Given the description of an element on the screen output the (x, y) to click on. 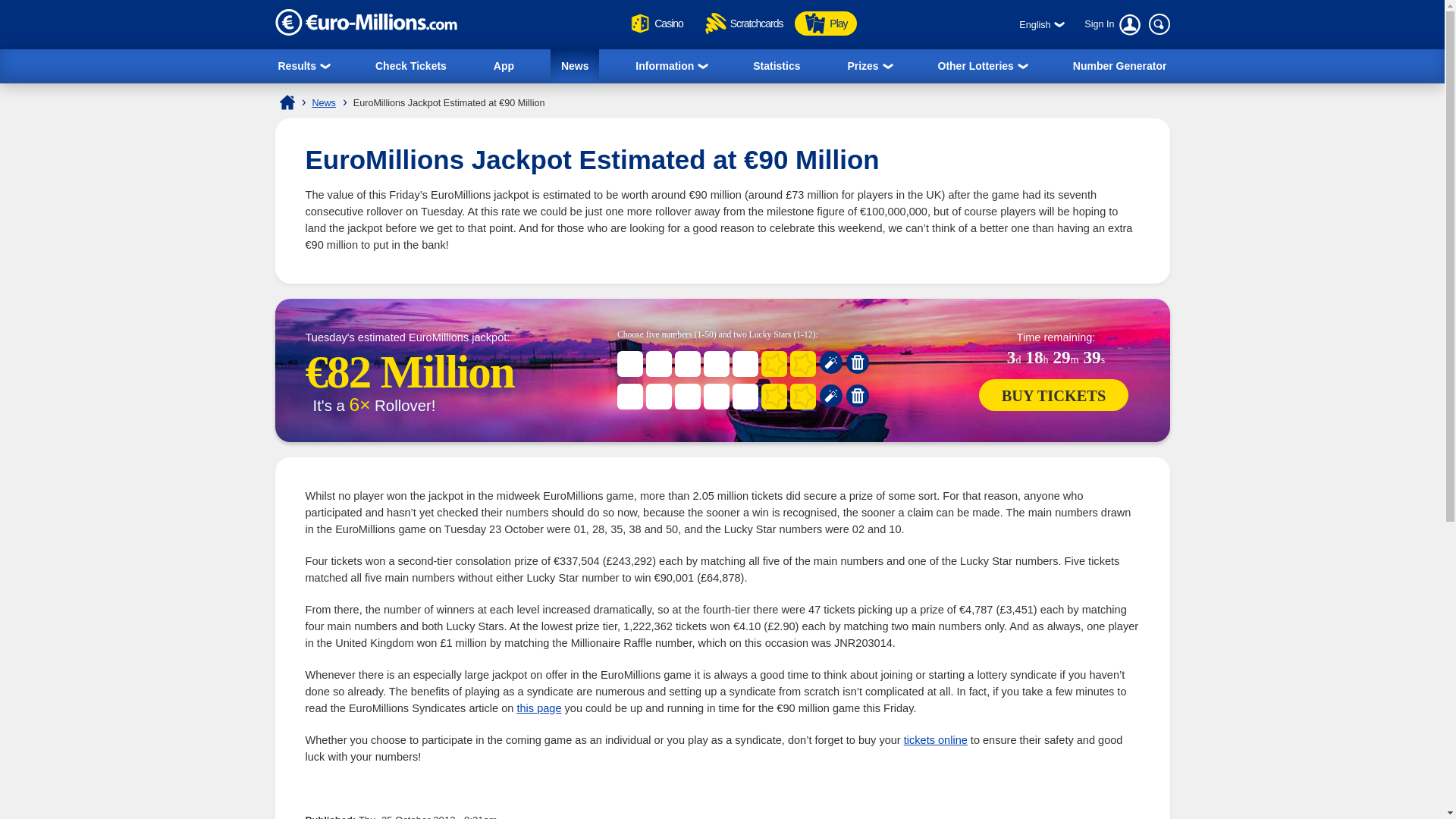
Information (670, 66)
Other Lotteries (981, 66)
Online scratchcards (743, 23)
Prizes (868, 66)
Results (302, 66)
Check Tickets (411, 65)
App (503, 65)
Play (825, 23)
Statistics (776, 65)
EuroMillions Results (302, 66)
